Given the description of an element on the screen output the (x, y) to click on. 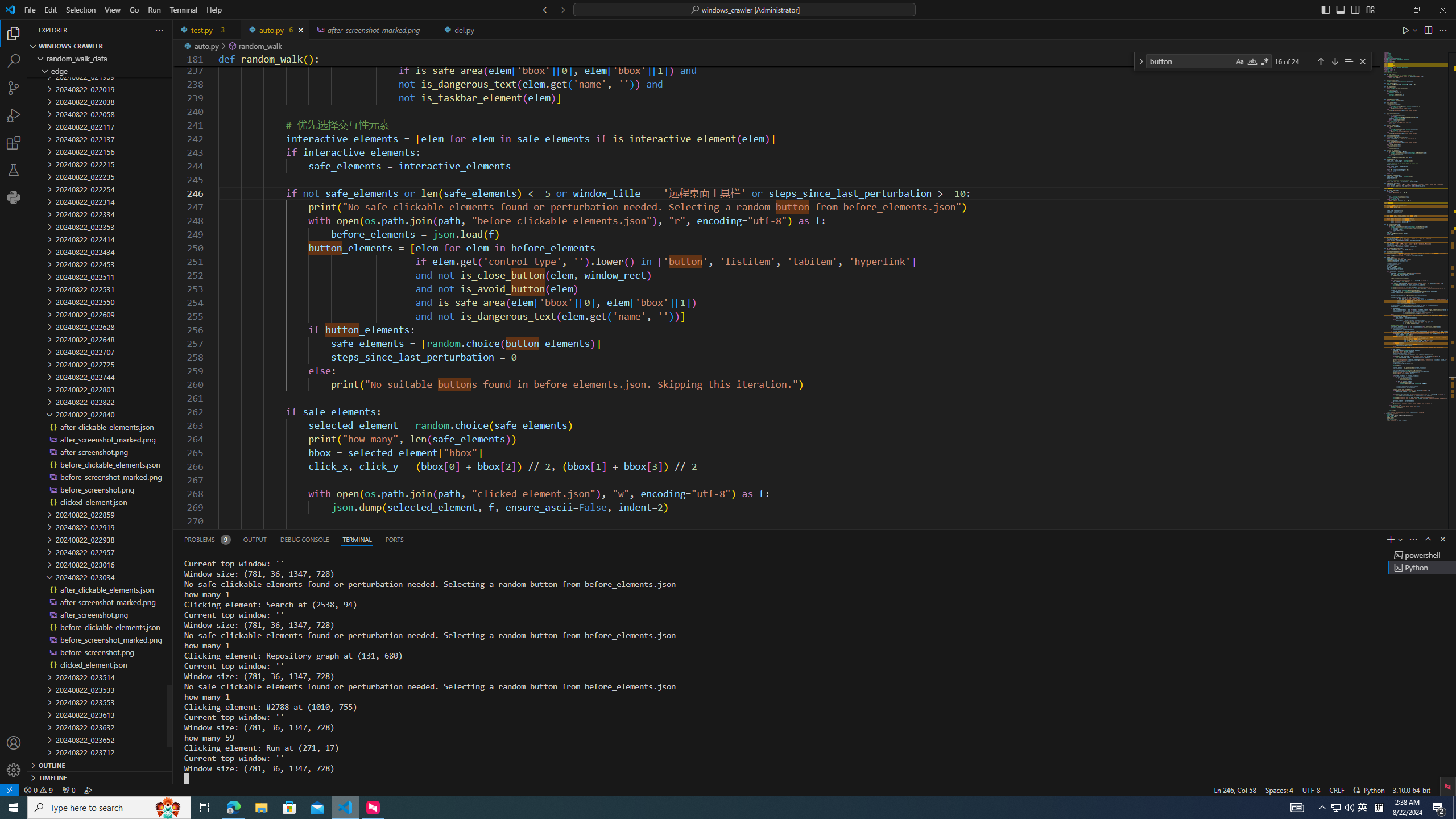
Close (Escape) (1362, 60)
View (112, 9)
Selection (80, 9)
Outline Section (99, 764)
Previous Match (Shift+Enter) (1320, 60)
Match Whole Word (Alt+W) (1251, 61)
Edit (50, 9)
Terminal (Ctrl+`) (356, 539)
Toggle Primary Side Bar (Ctrl+B) (1325, 9)
Warnings: 9 (37, 789)
